Given the description of an element on the screen output the (x, y) to click on. 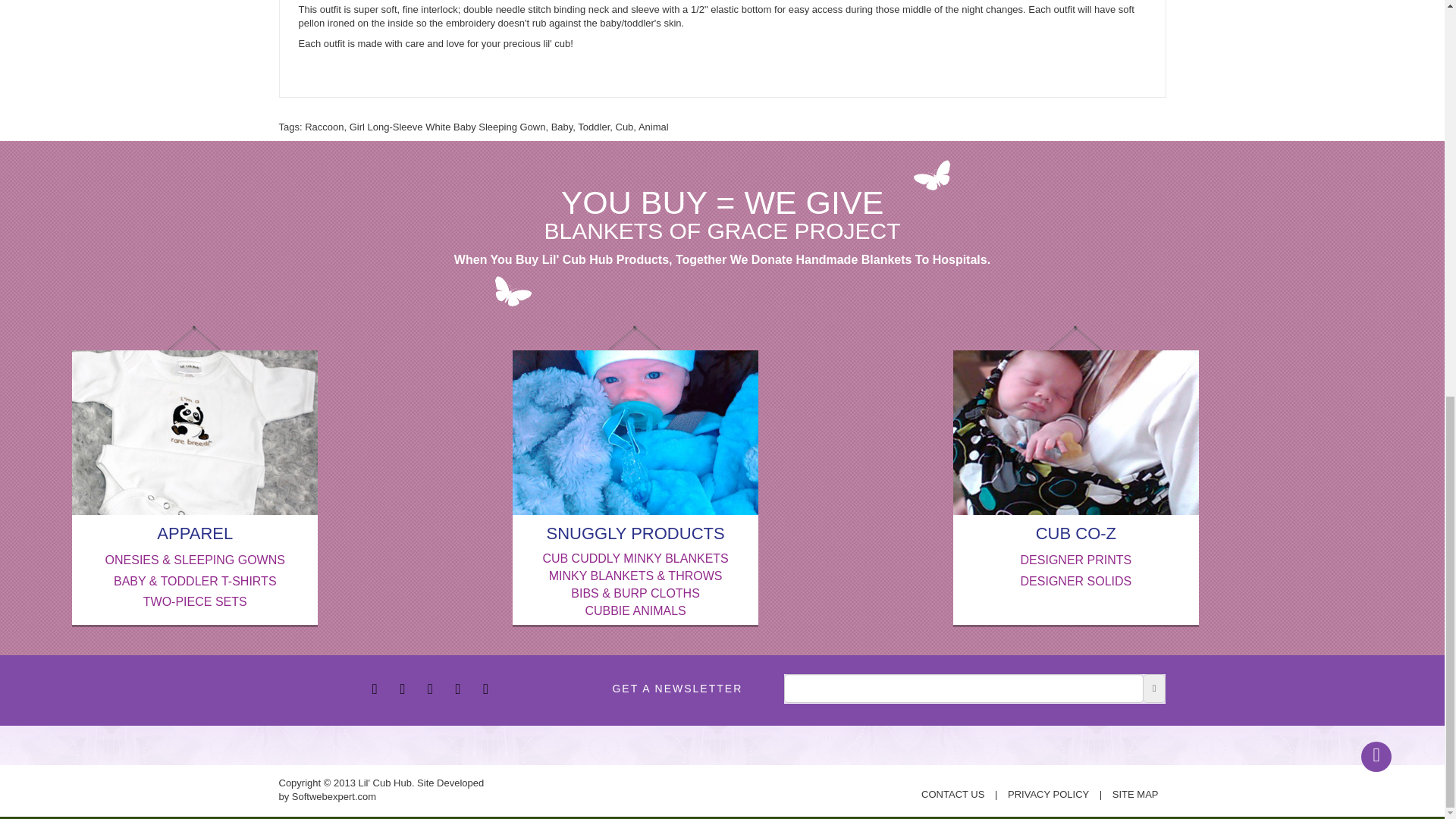
Twitter (487, 690)
Google (432, 690)
Twitter (403, 690)
Pinterest (459, 690)
Facebook (376, 690)
